Given the description of an element on the screen output the (x, y) to click on. 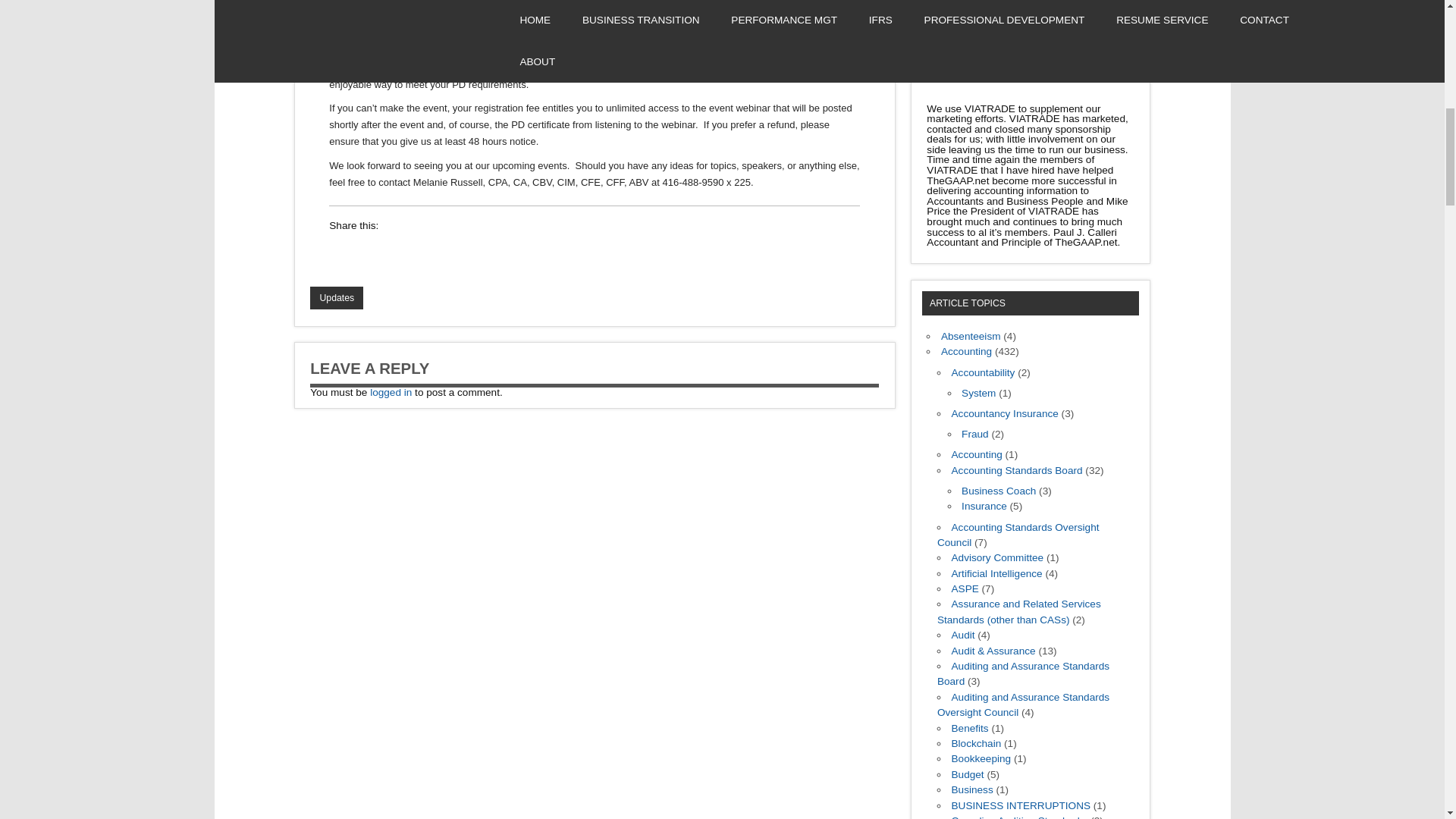
Updates (336, 297)
logged in (390, 392)
Register here! (371, 43)
Click to share on Pinterest (485, 253)
Click to share on LinkedIn (341, 253)
Absenteeism (970, 336)
Click to share on Google (398, 253)
Click to share by Email (456, 253)
Click to share on Twitter (426, 253)
Click to share on Facebook (369, 253)
